Given the description of an element on the screen output the (x, y) to click on. 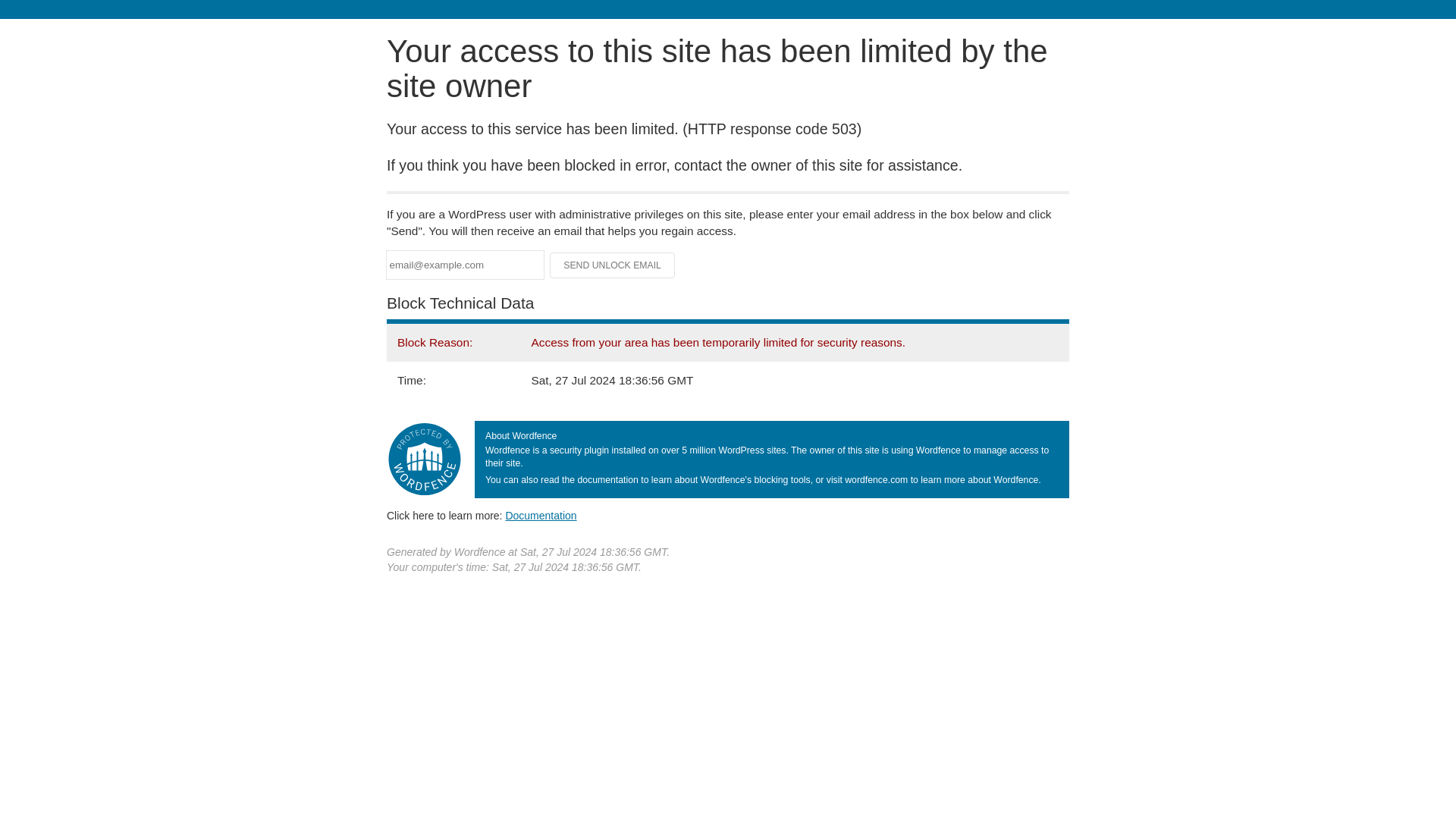
Send Unlock Email (612, 265)
Send Unlock Email (612, 265)
Documentation (540, 515)
